Given the description of an element on the screen output the (x, y) to click on. 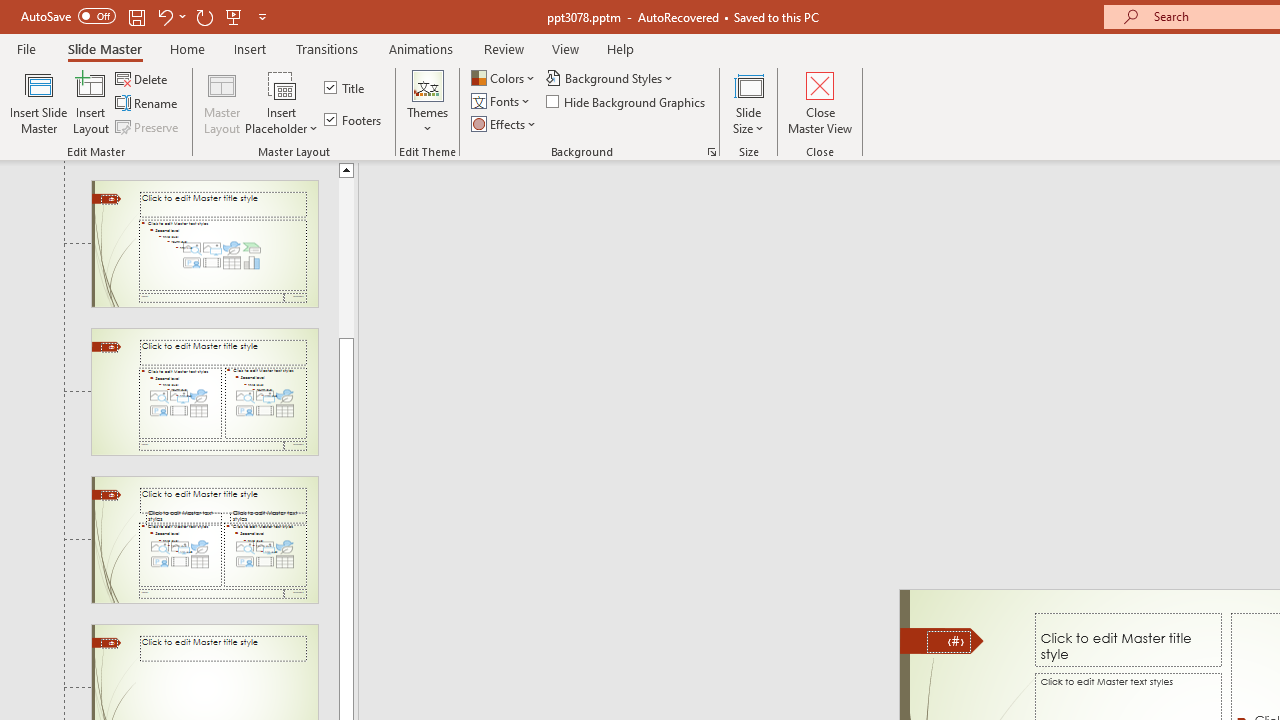
Slide Comparison Layout: used by no slides (204, 539)
Freeform 11 (941, 640)
Content (282, 84)
Insert Layout (91, 102)
Title (346, 87)
Themes (427, 102)
Delete (143, 78)
Rename (148, 103)
Master Layout... (221, 102)
Colors (504, 78)
Slide Two Content Layout: used by no slides (204, 392)
